Given the description of an element on the screen output the (x, y) to click on. 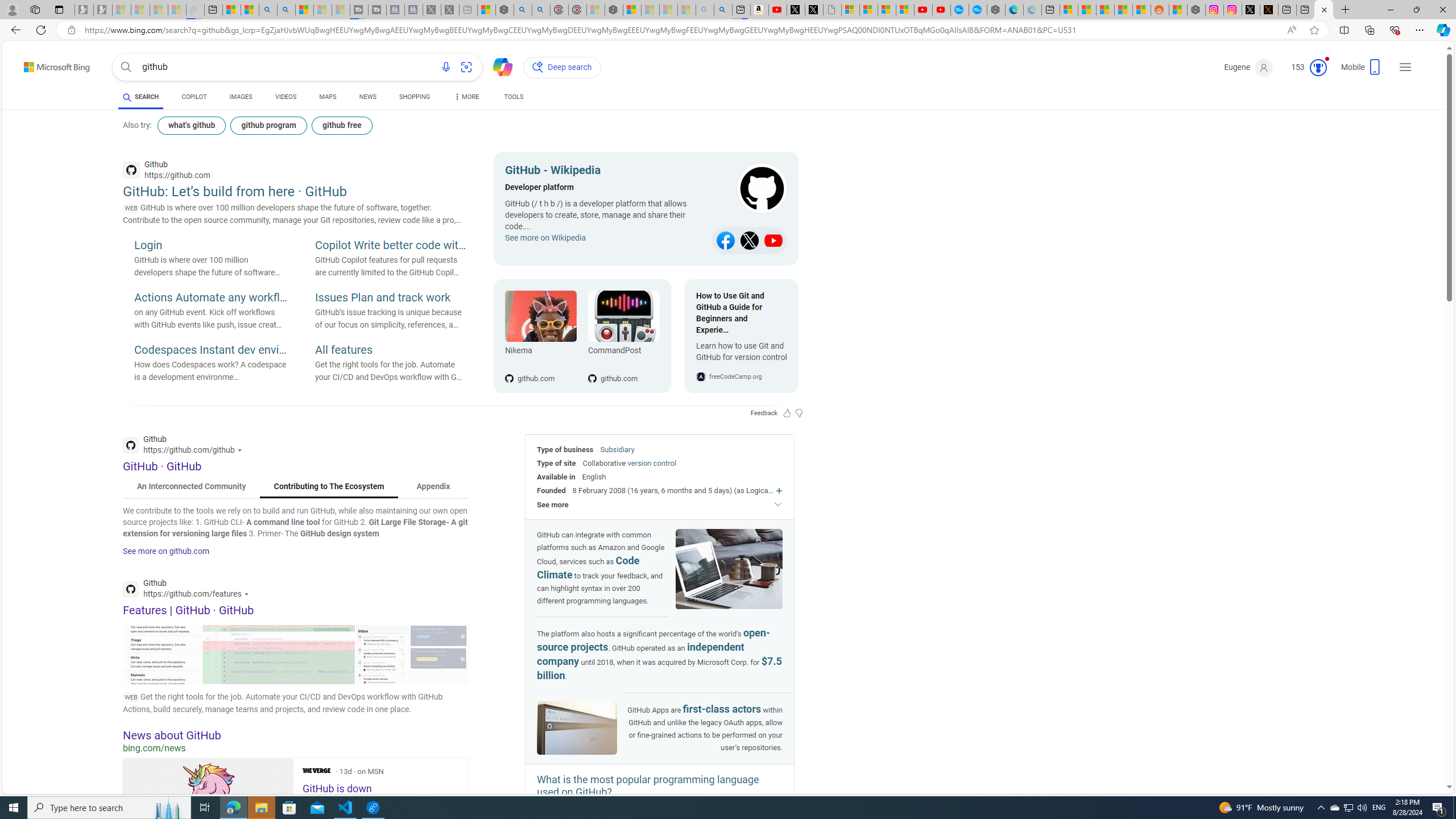
Search more (1423, 753)
Global web icon (130, 588)
VIDEOS (285, 96)
version control (651, 462)
Class: medal-circled (1317, 67)
Global Web Icon (700, 376)
Actions for this site (247, 594)
News about GitHub (295, 735)
